Given the description of an element on the screen output the (x, y) to click on. 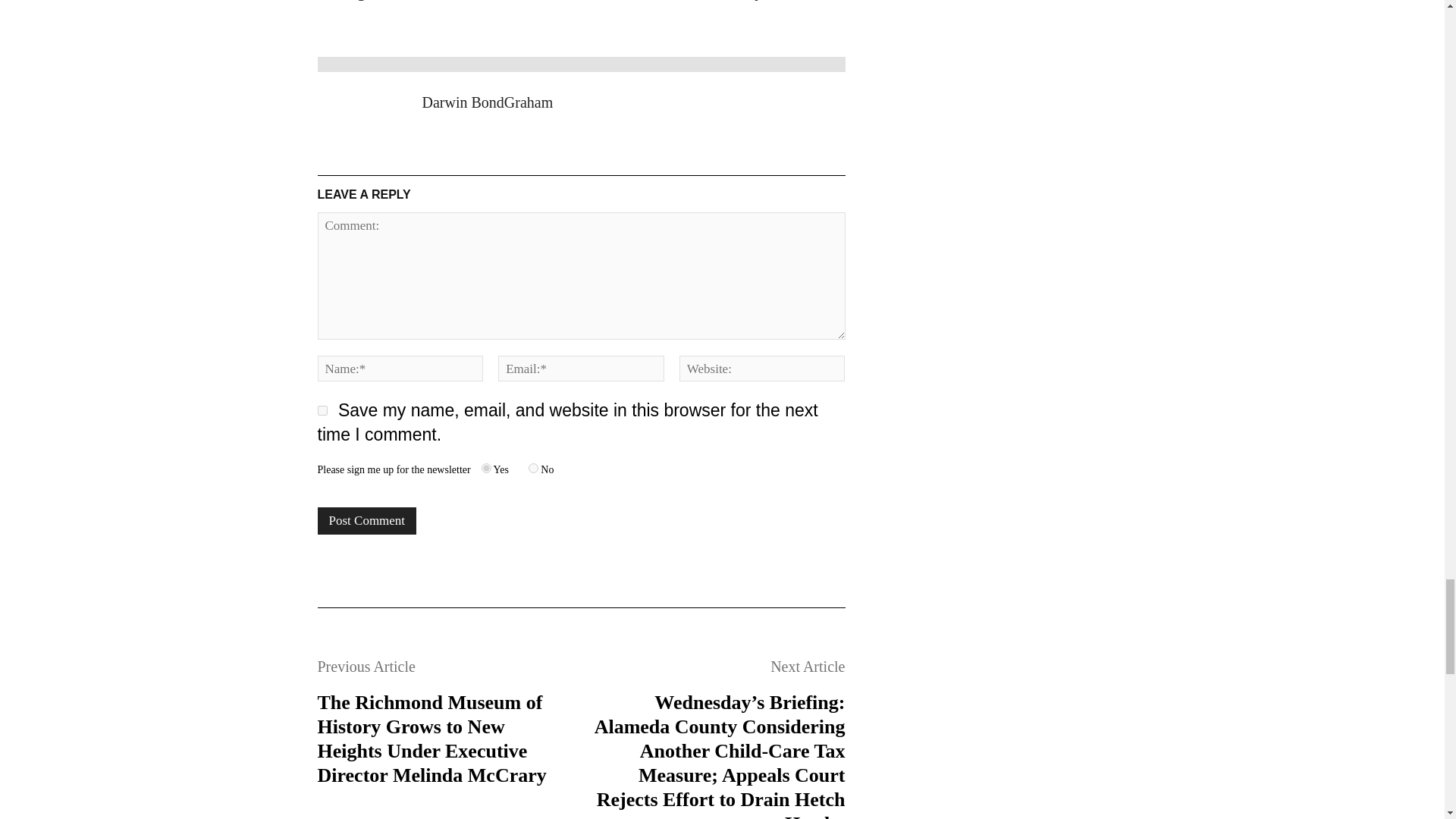
yes (321, 410)
Post Comment (366, 520)
No (533, 468)
Yes (486, 468)
